Given the description of an element on the screen output the (x, y) to click on. 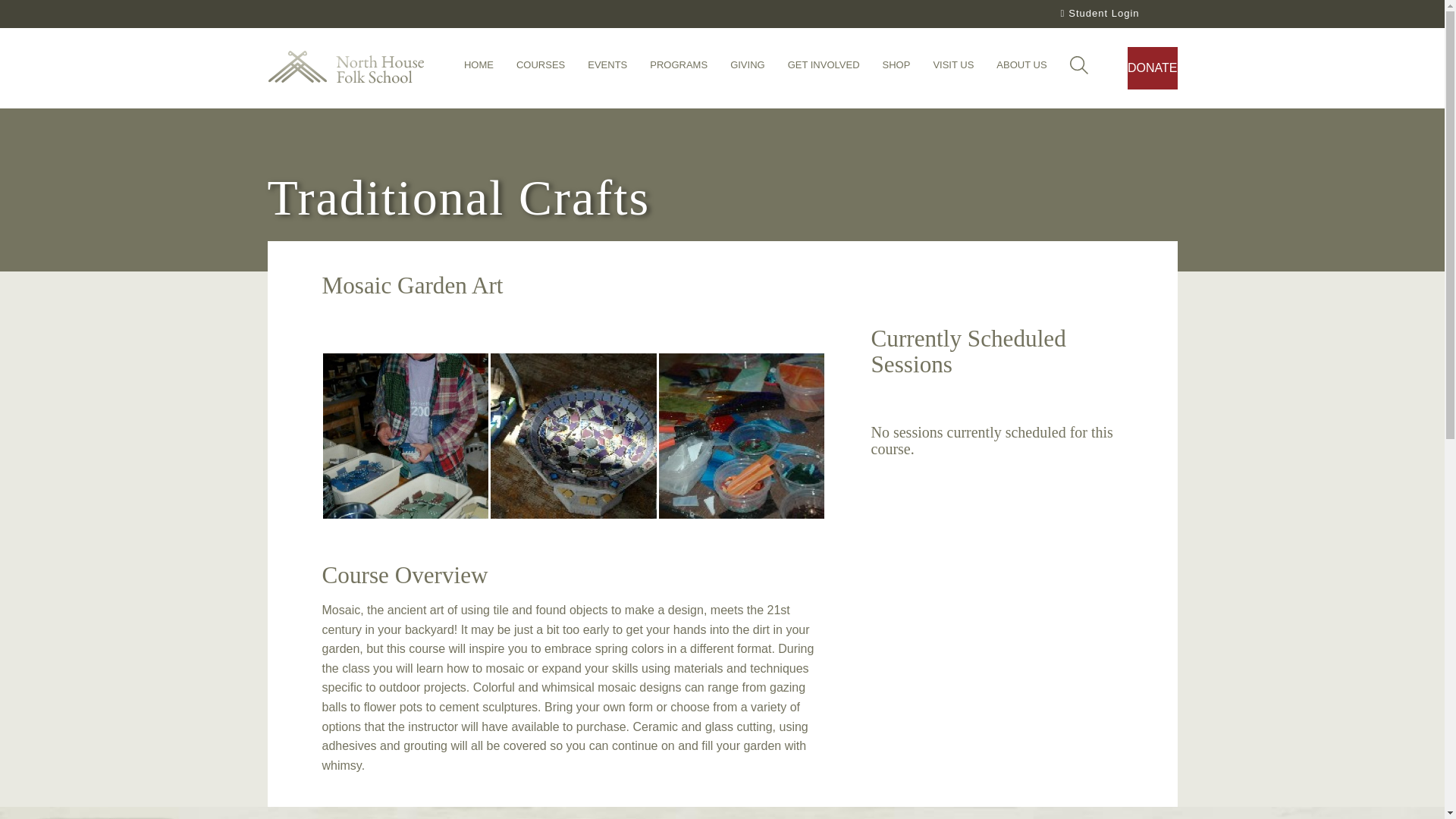
PROGRAMS (678, 69)
SHOP (896, 69)
GET INVOLVED (823, 69)
GIVING (747, 69)
North House Folk School (344, 67)
COURSES (540, 69)
Student Login (1098, 13)
HOME (478, 69)
EVENTS (607, 69)
VISIT US (953, 69)
